Given the description of an element on the screen output the (x, y) to click on. 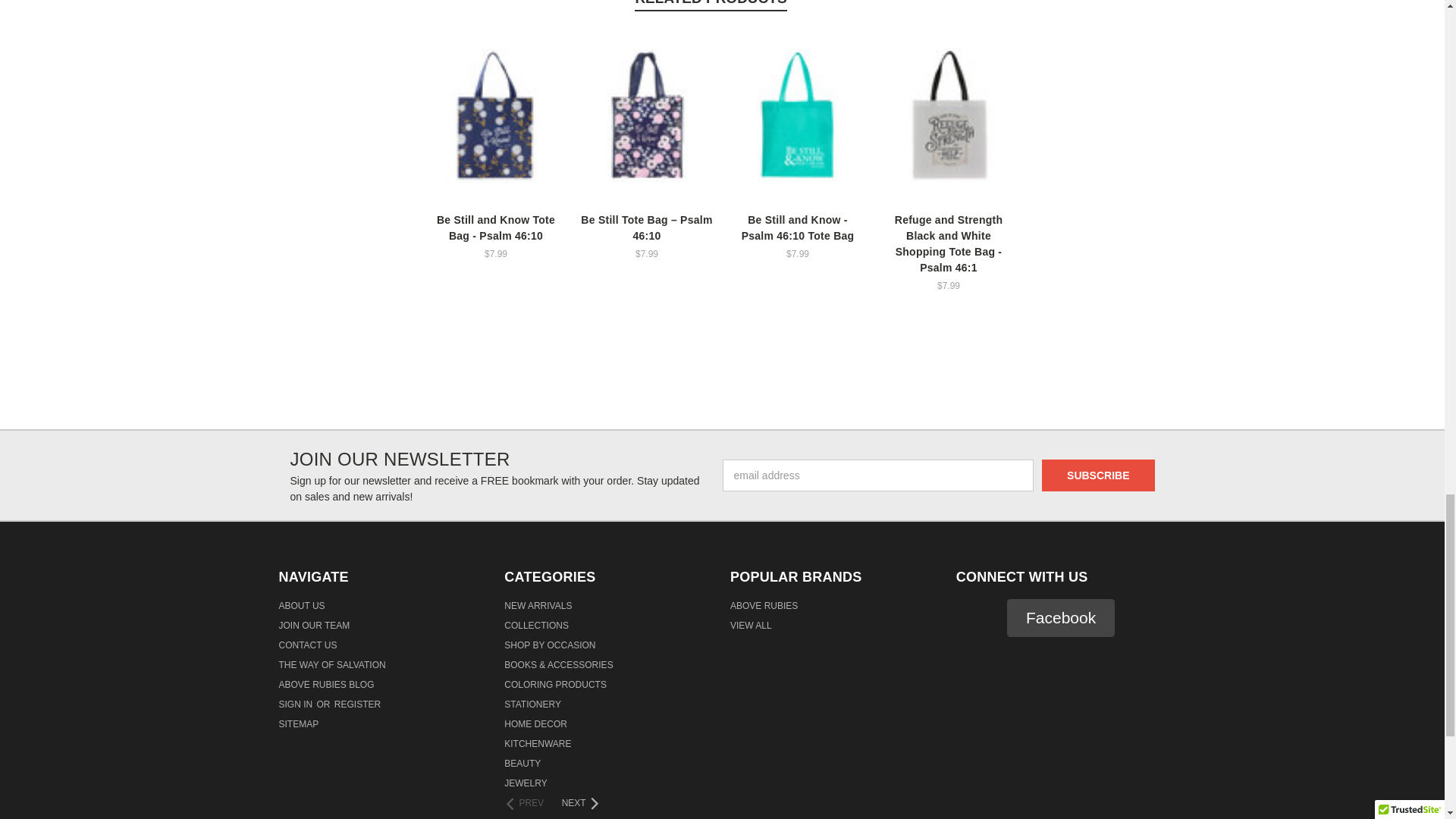
Subscribe (1098, 475)
Be Still and Know - Psalm 46:10 Tote Bag (797, 114)
Be Still and Know Tote Bag - Psalm 46:10 (495, 114)
